Given the description of an element on the screen output the (x, y) to click on. 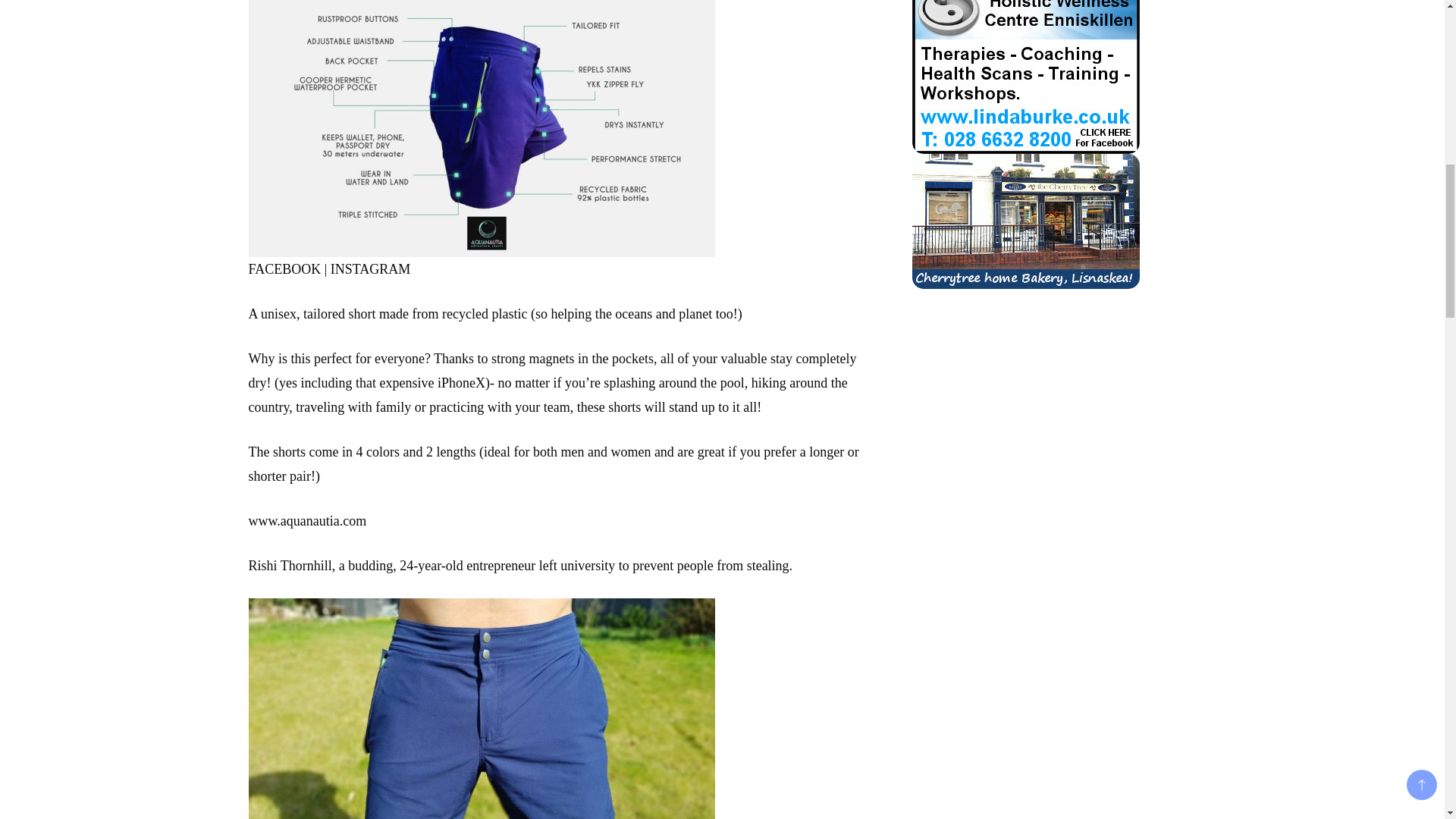
www.aquanautia.com (307, 520)
FACEBOOK (284, 268)
INSTAGRAM (370, 268)
